Given the description of an element on the screen output the (x, y) to click on. 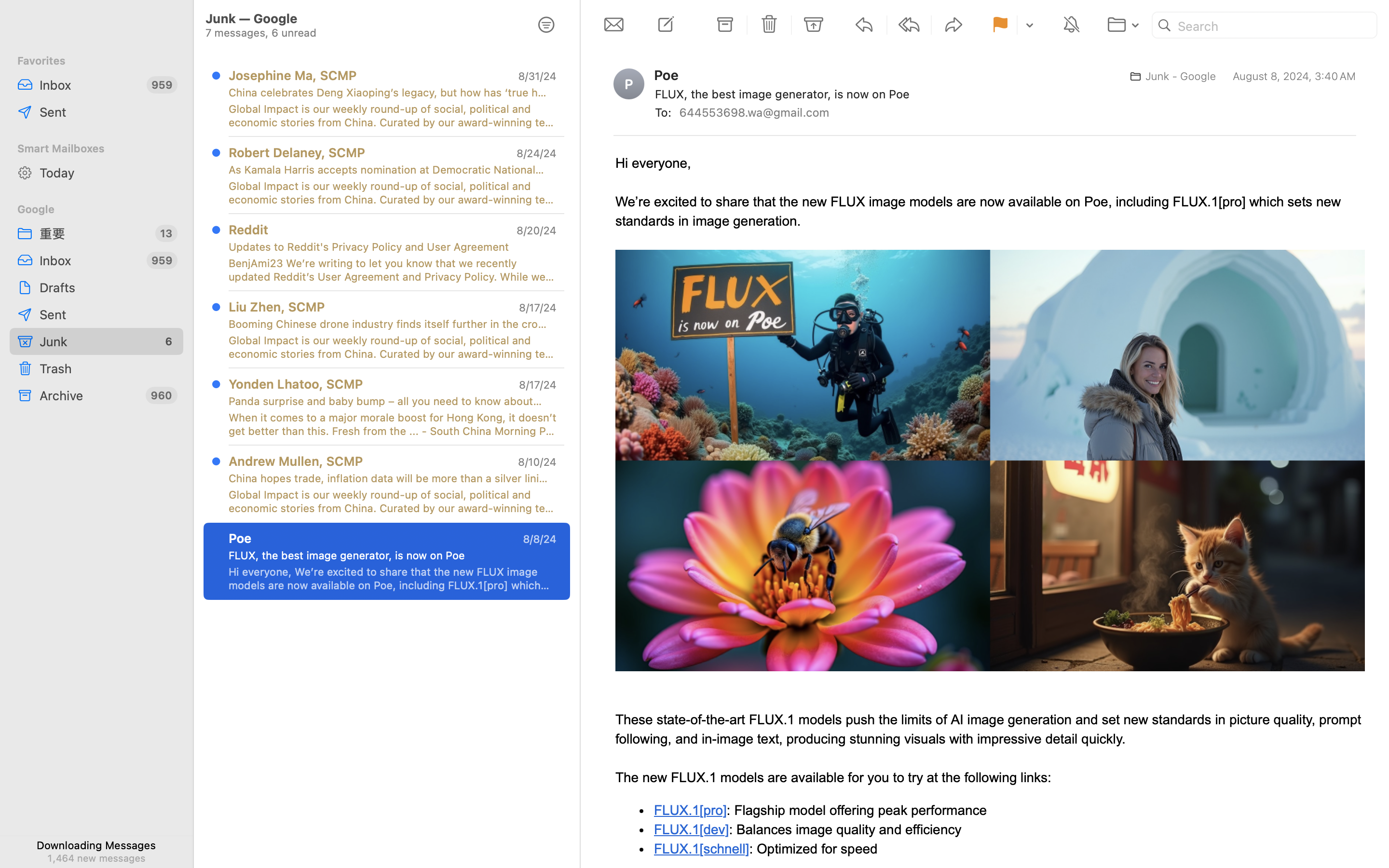
8/17/24 Element type: AXStaticText (537, 384)
Hi everyone, We’re excited to share that the new FLUX image models are now available on Poe, including FLUX.1[pro] which sets new standards in image generation. These state-of-the-art FLUX.1 models push the limits of AI image generation and set new standards in picture quality, prompt following, and in-image text, producing stunning visuals with impressive detail quickly. The new FLUX.1 models are available for you to try at the following links: FLUX.1[pro]: Flagship model offering peak performance FLUX.1[dev]: Balances image quality and efficiency FLUX.1[schnell]: Optimized for speed We’ve also made the FLUX models available as base bots for you to build your own custom prompt and server bots. We appreciate your feedback and encourage you to continue sharing your thoughts at feedback@poe.com. You can stay updated on the latest updates and announcements by following us on X and joining our Discord server. Thanks, The Poe Team Our goal is to offer you valuable product updates. You can u Element type: AXStaticText (392, 578)
Global Impact is our weekly round-up of social, political and economic stories from China. Curated by our award-winning team of ... - South China Morning Post, SCMP, Global Impact - Global Impact is our weekly round-up of social, political and economic stories from China. Curated by our award-winning team of ... This newsletter is now only available to our digital subscribers. Subscribe to a 1-year plan with a 25% discount for the first year to continue to receive this newsletter along with unlimited access to SCMP.com. Was this newsletter forwarded to you? Sign up here China politics & diplomacy Too early for China to celebrate positive trade, inflation data as global stock market volatilities raise red flag Andrew Mullen Deputy Editor, Political Economy 10 August 2024 Global Impact is our weekly round-up of social, political and economic stories from China. Curated by our award-winning team of journalists, this must-read newsletter explores the impact and significance of those storie Element type: AXStaticText (392, 501)
Today Element type: AXTextField (107, 172)
0 Element type: AXCheckBox (545, 25)
